Given the description of an element on the screen output the (x, y) to click on. 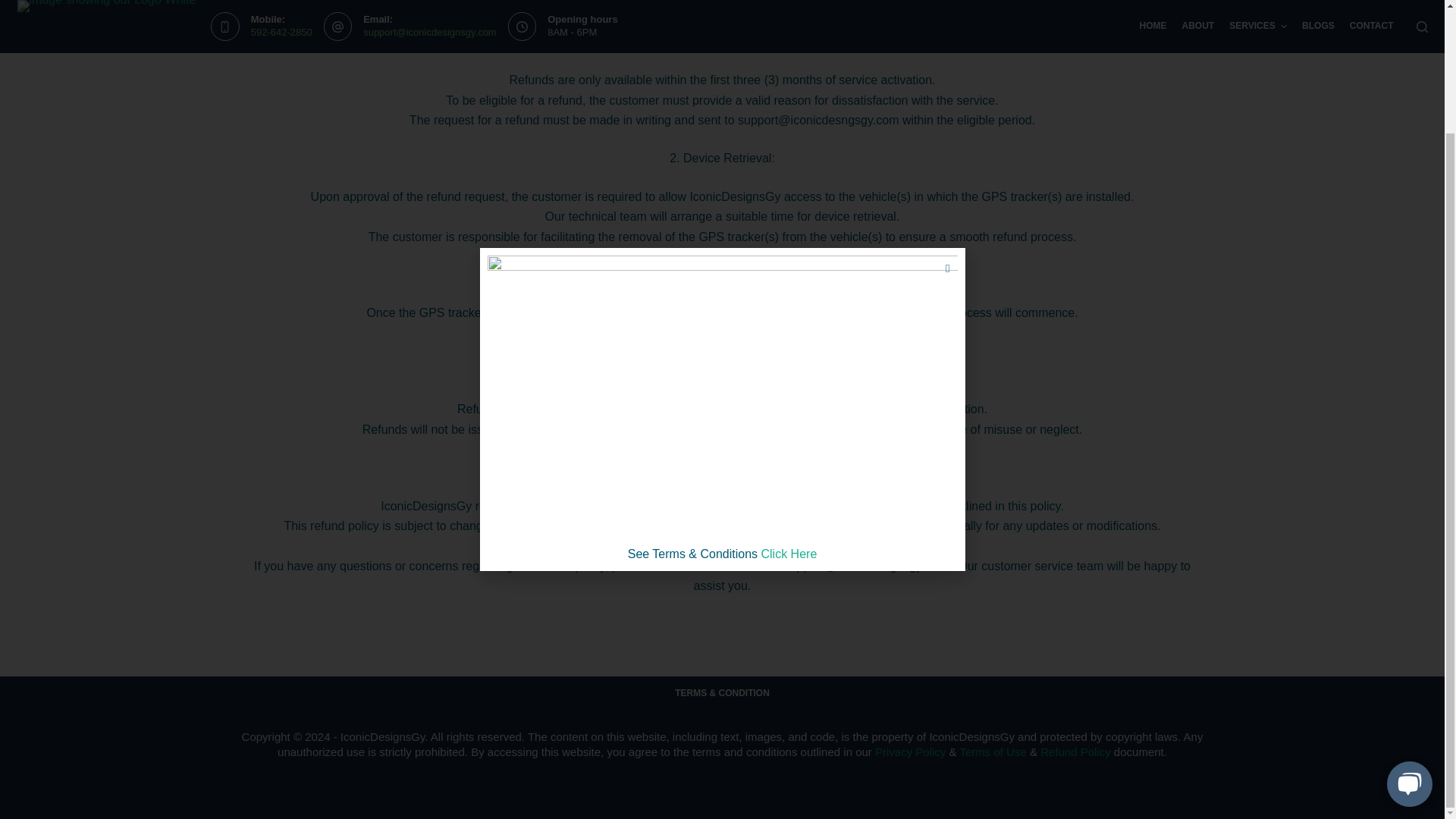
Privacy Policy (909, 751)
